Given the description of an element on the screen output the (x, y) to click on. 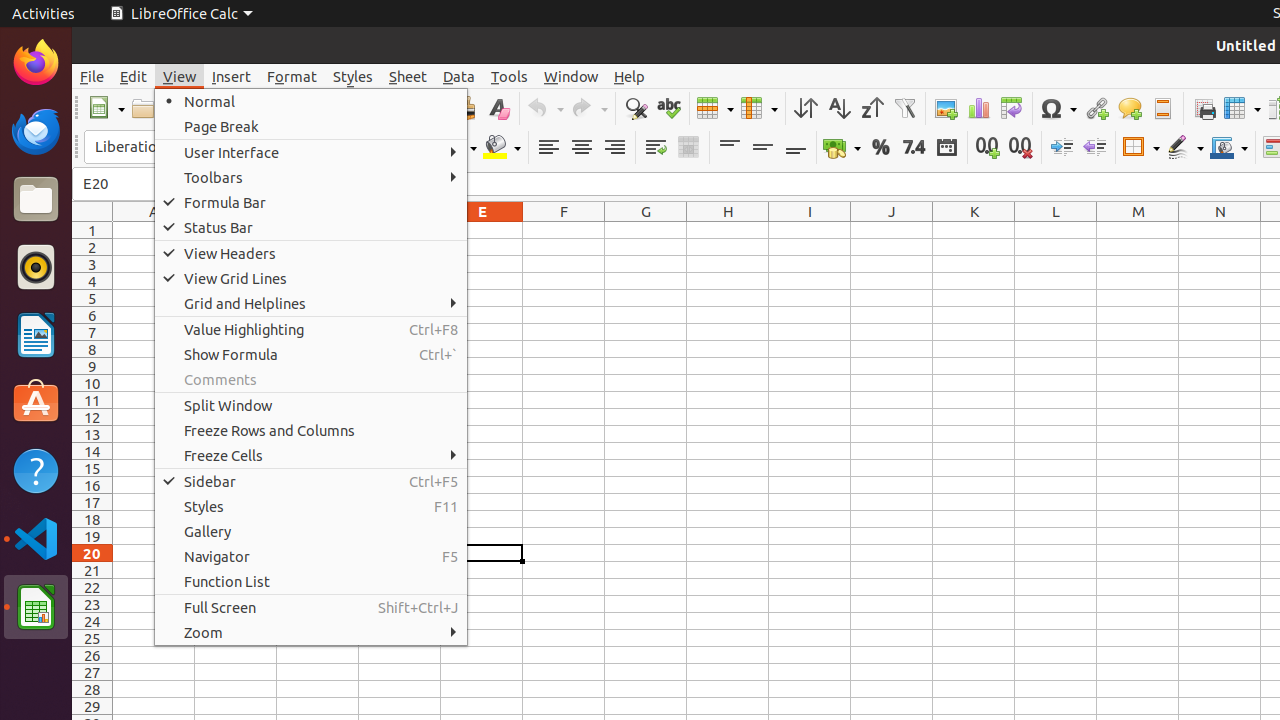
Styles Element type: menu-item (311, 506)
Window Element type: menu (571, 76)
Delete Decimal Place Element type: push-button (1020, 147)
K1 Element type: table-cell (974, 230)
Border Style Element type: push-button (1185, 147)
